Given the description of an element on the screen output the (x, y) to click on. 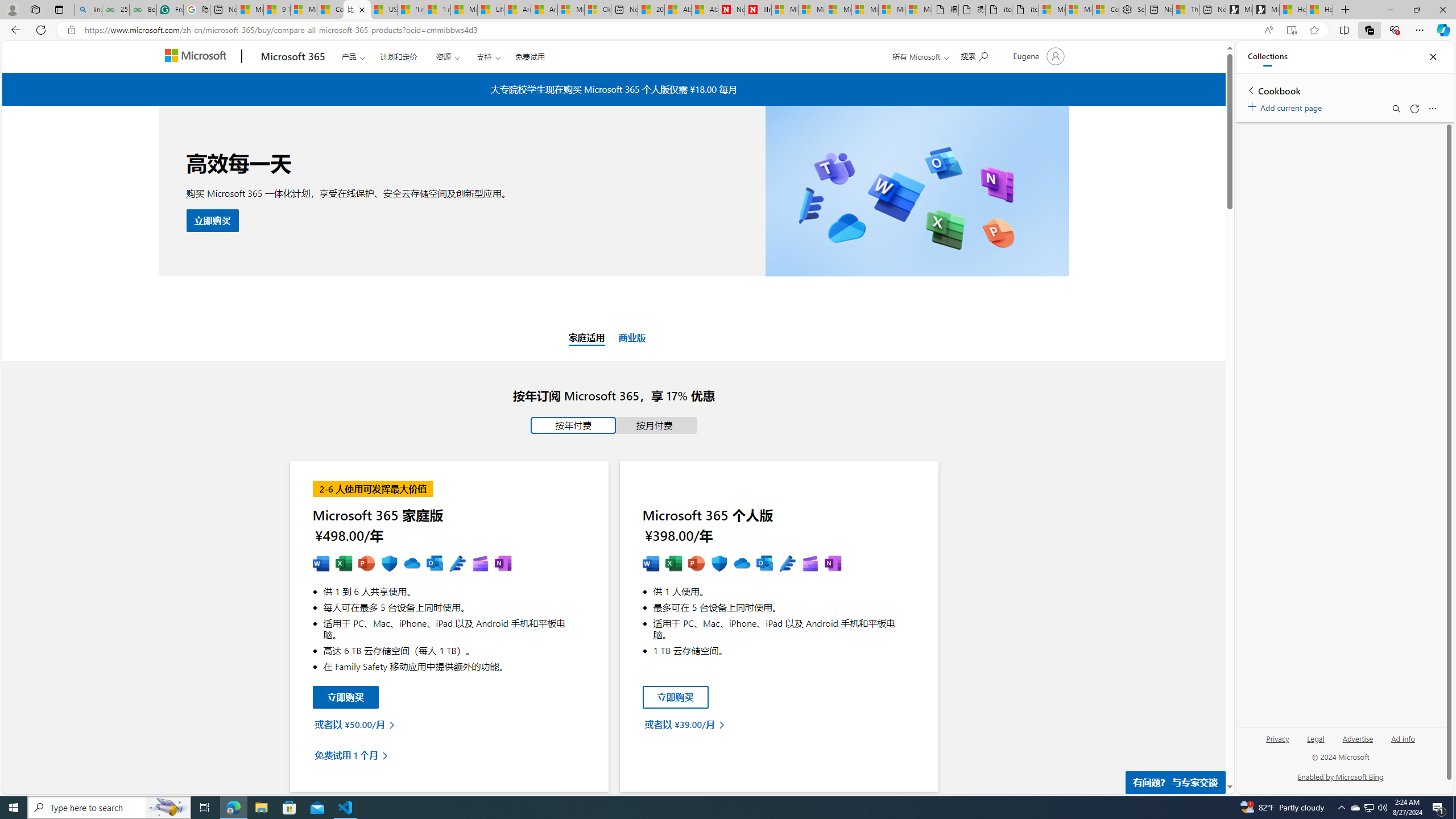
20 Ways to Boost Your Protein Intake at Every Meal (651, 9)
MS Clipchamp (809, 563)
